Given the description of an element on the screen output the (x, y) to click on. 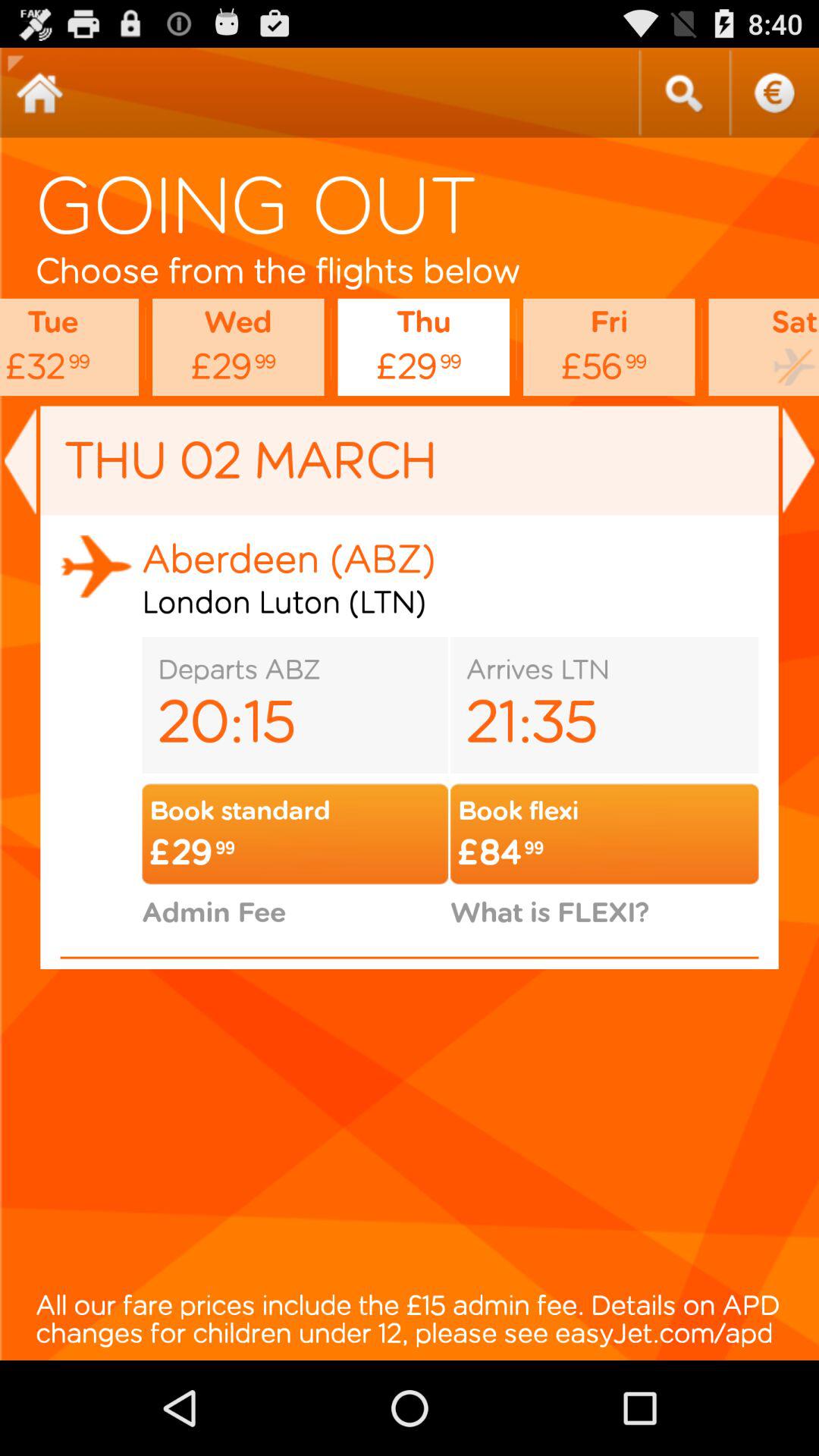
change currency (774, 92)
